Given the description of an element on the screen output the (x, y) to click on. 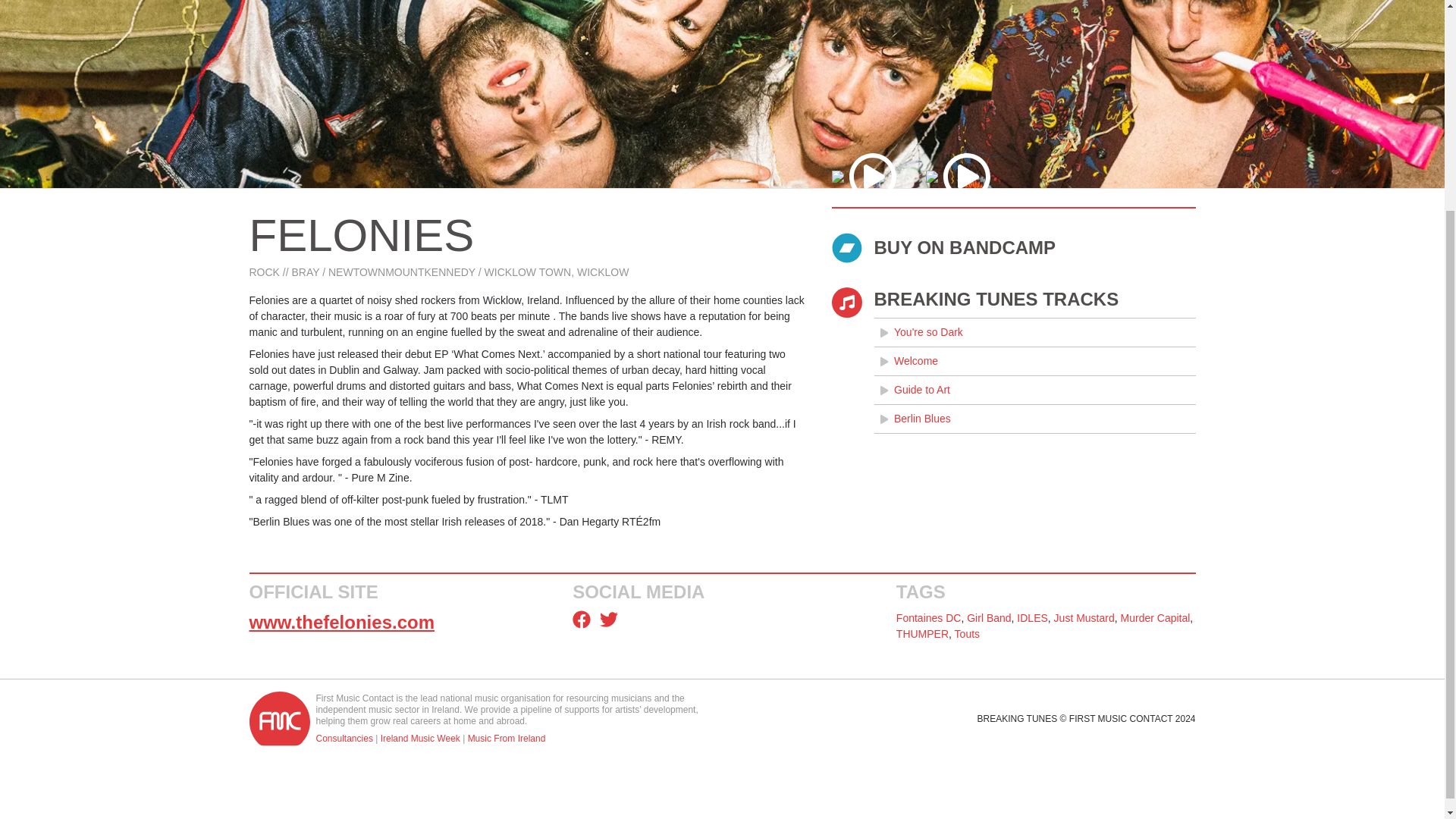
Touts (967, 633)
BUY ON BANDCAMP (1013, 247)
THUMPER (922, 633)
www.thefelonies.com (340, 621)
Welcome (1034, 361)
Just Mustard (1084, 617)
IDLES (1031, 617)
Guide to Art (1034, 389)
You're so Dark (1034, 332)
Berlin Blues (1034, 418)
Fontaines DC (928, 617)
Murder Capital (1156, 617)
Girl Band (988, 617)
